Given the description of an element on the screen output the (x, y) to click on. 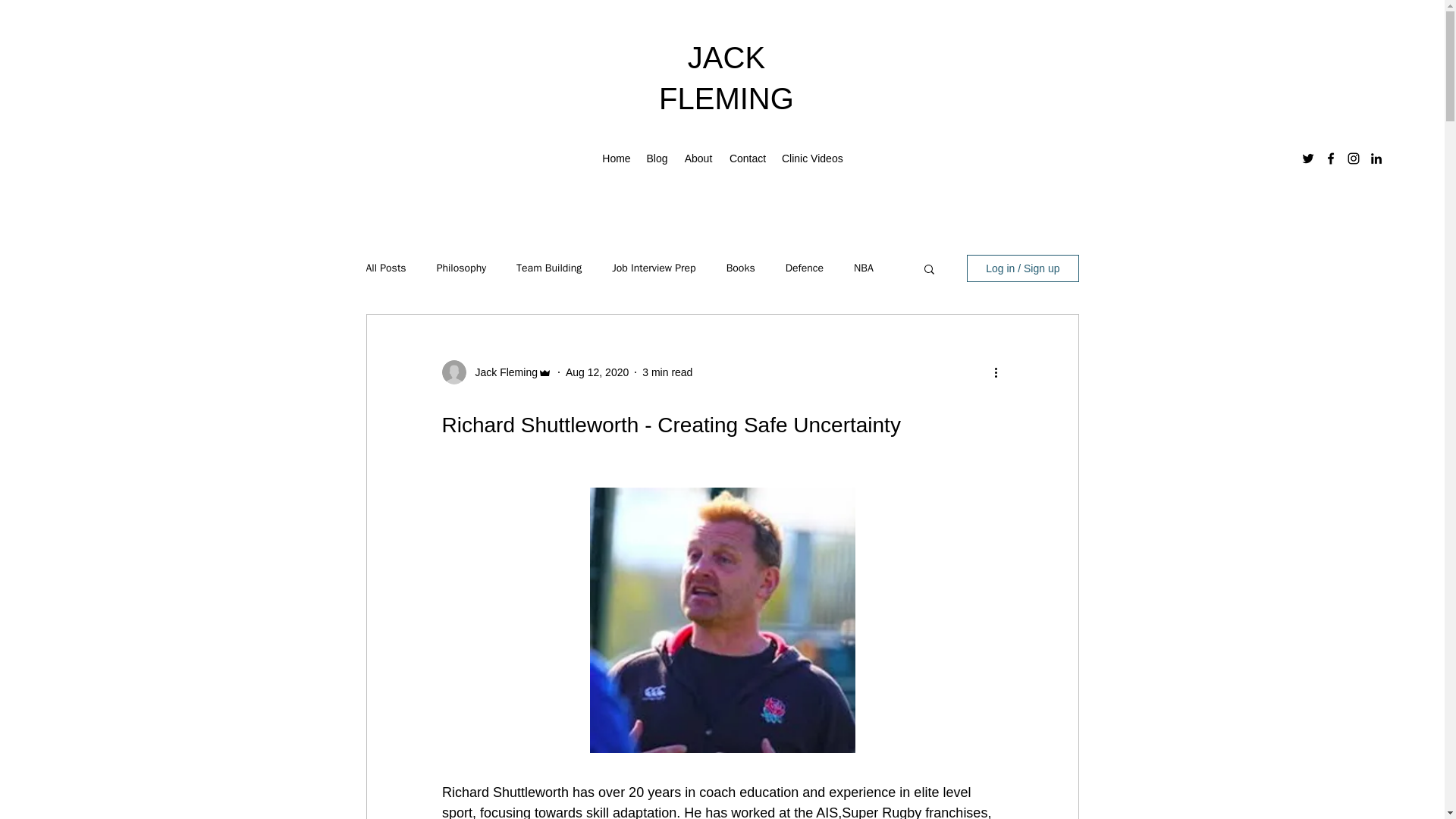
Team Building (548, 268)
Clinic Videos (812, 158)
Books (740, 268)
NBA (863, 268)
Blog (657, 158)
Aug 12, 2020 (597, 371)
Job Interview Prep (653, 268)
Defence (805, 268)
Jack Fleming  (501, 371)
Philosophy (461, 268)
